Given the description of an element on the screen output the (x, y) to click on. 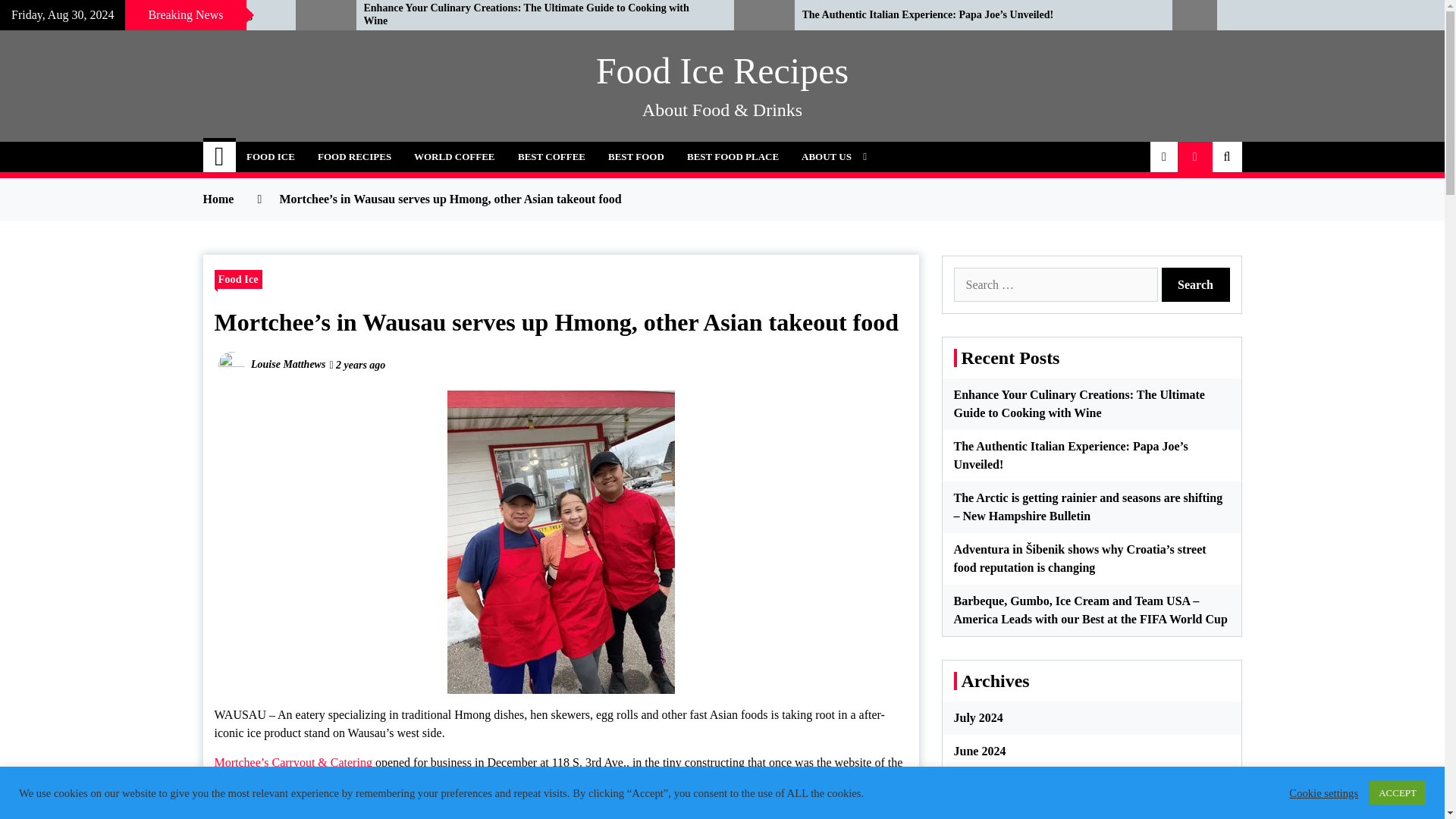
Search (1195, 284)
Home (219, 156)
Search (1195, 284)
